Given the description of an element on the screen output the (x, y) to click on. 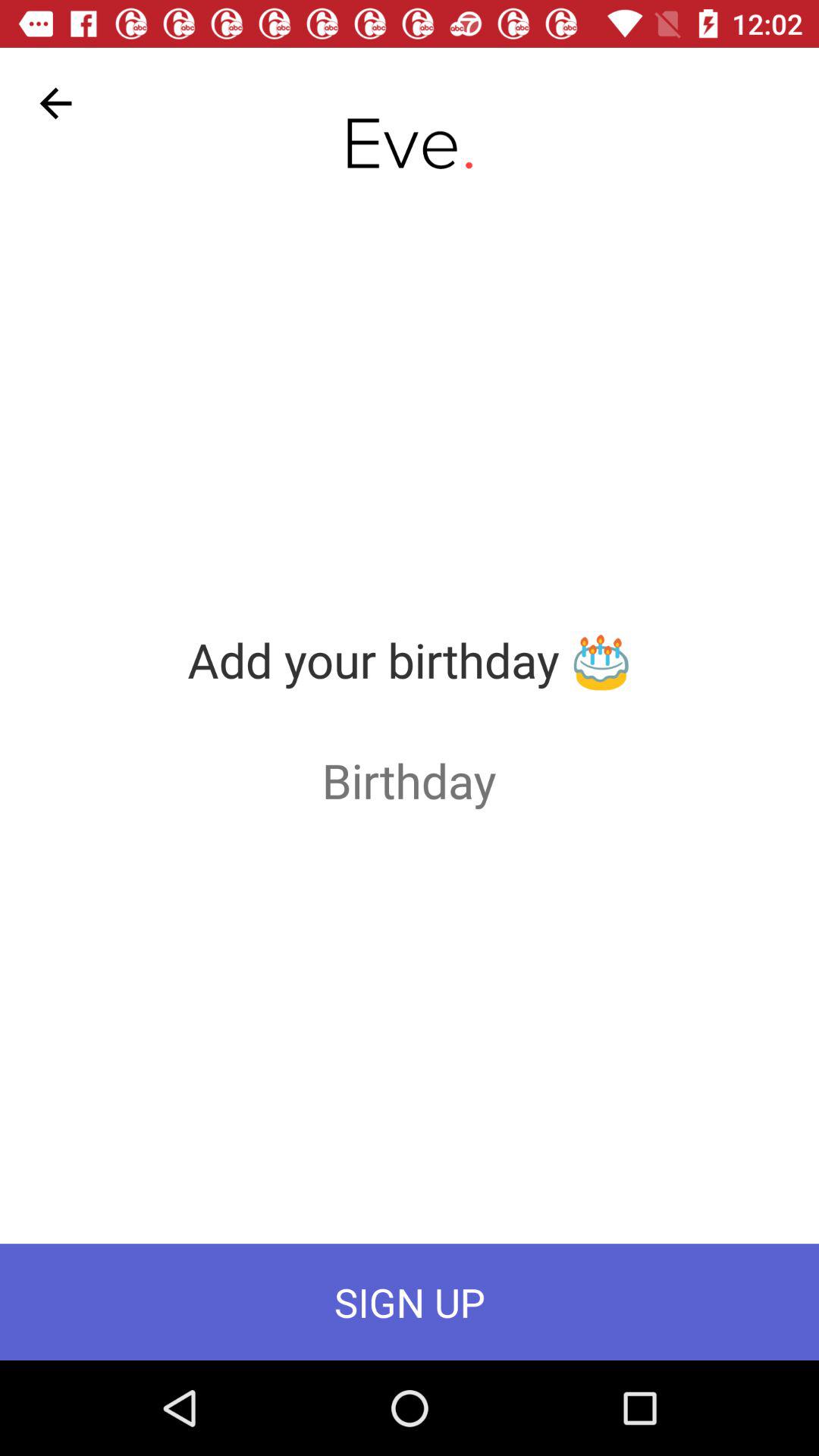
go back to previous page (55, 103)
